Given the description of an element on the screen output the (x, y) to click on. 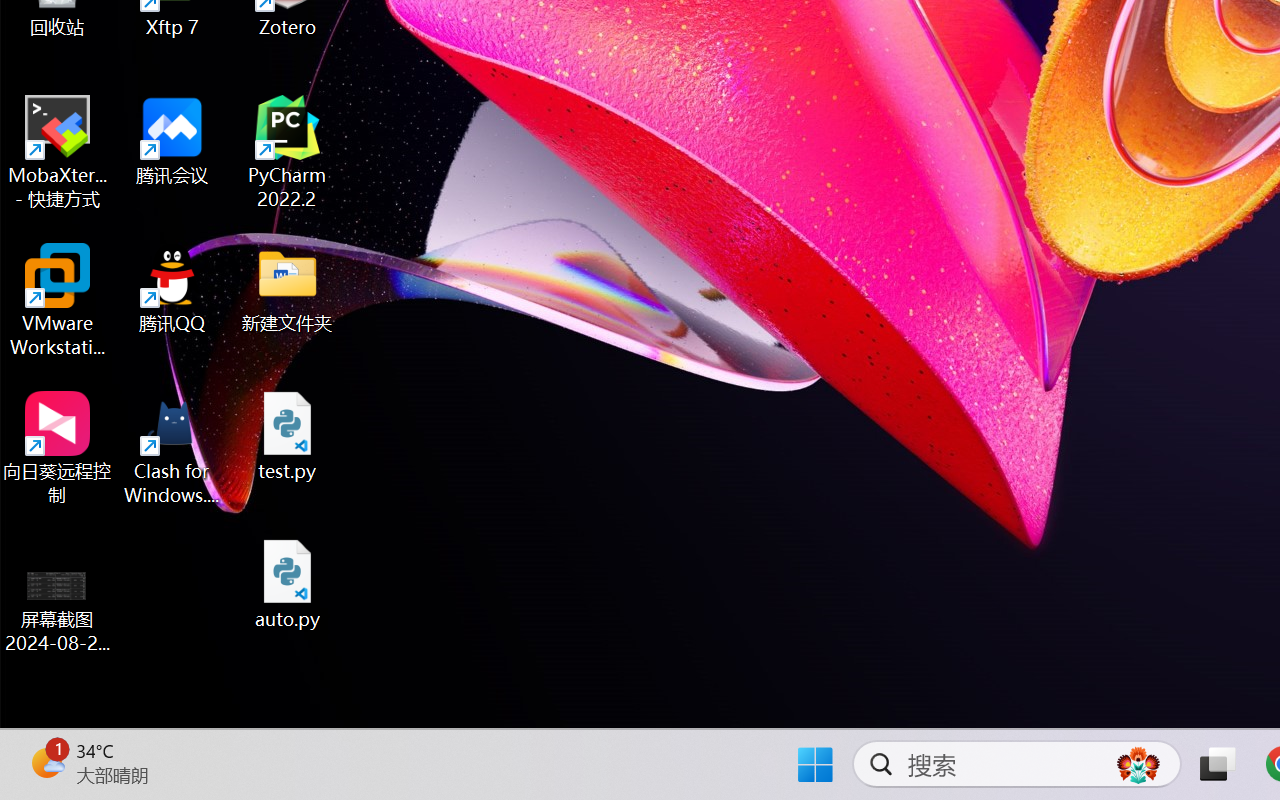
PyCharm 2022.2 (287, 152)
auto.py (287, 584)
test.py (287, 436)
